Given the description of an element on the screen output the (x, y) to click on. 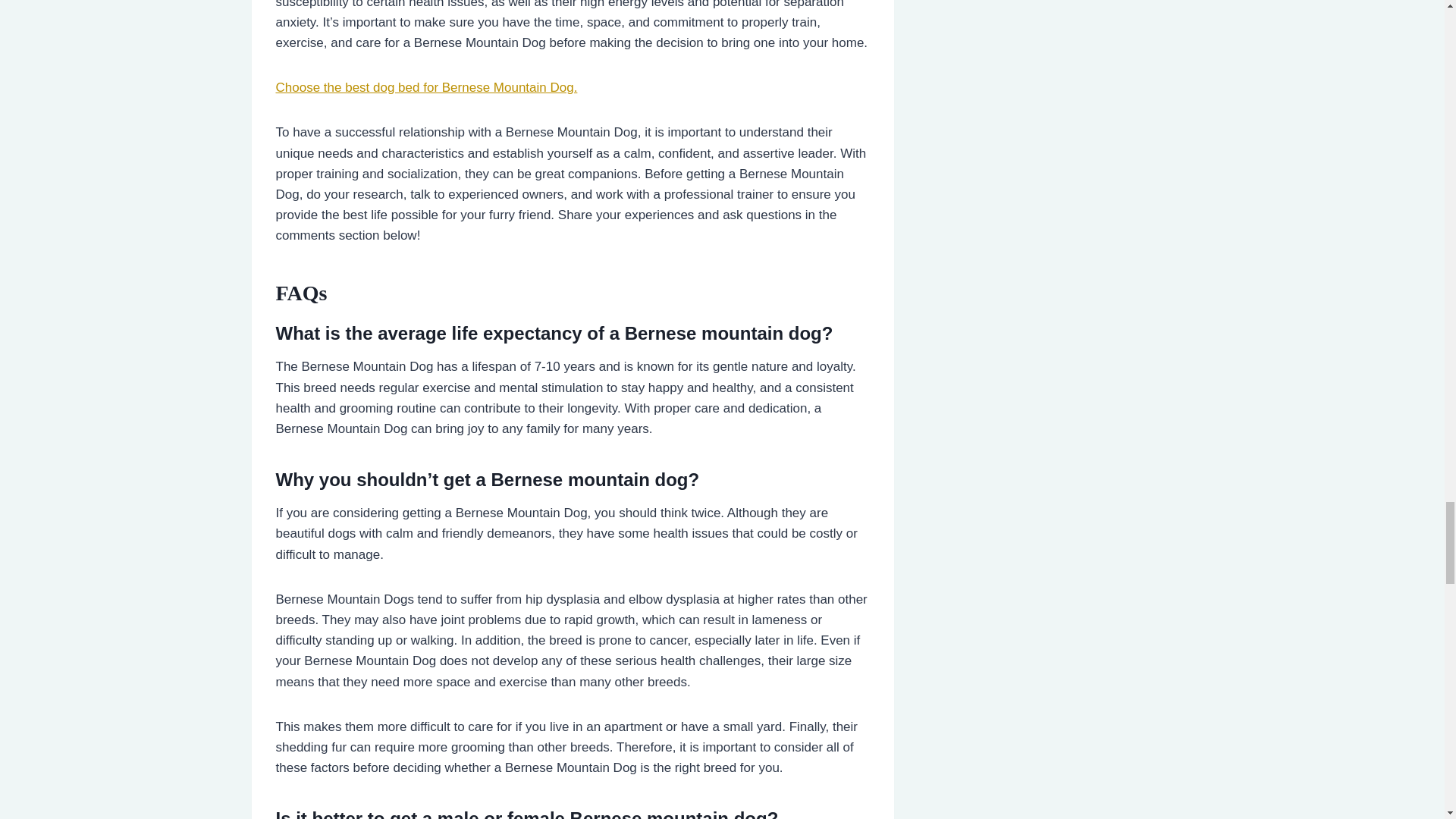
Choose the best dog bed for Bernese Mountain Dog. (427, 87)
